Given the description of an element on the screen output the (x, y) to click on. 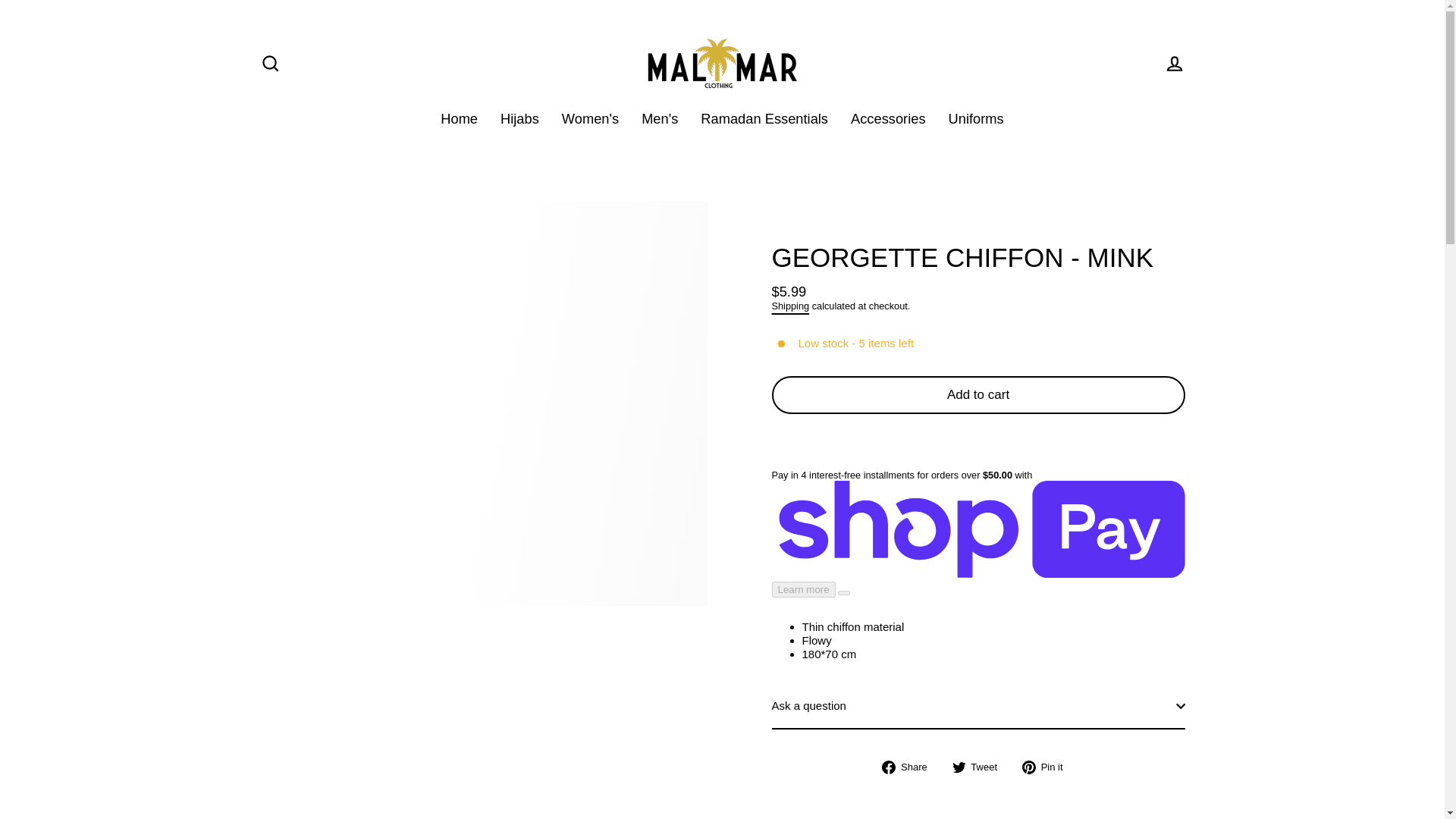
Share on Facebook (909, 766)
Pin on Pinterest (1048, 766)
Tweet on Twitter (980, 766)
